Given the description of an element on the screen output the (x, y) to click on. 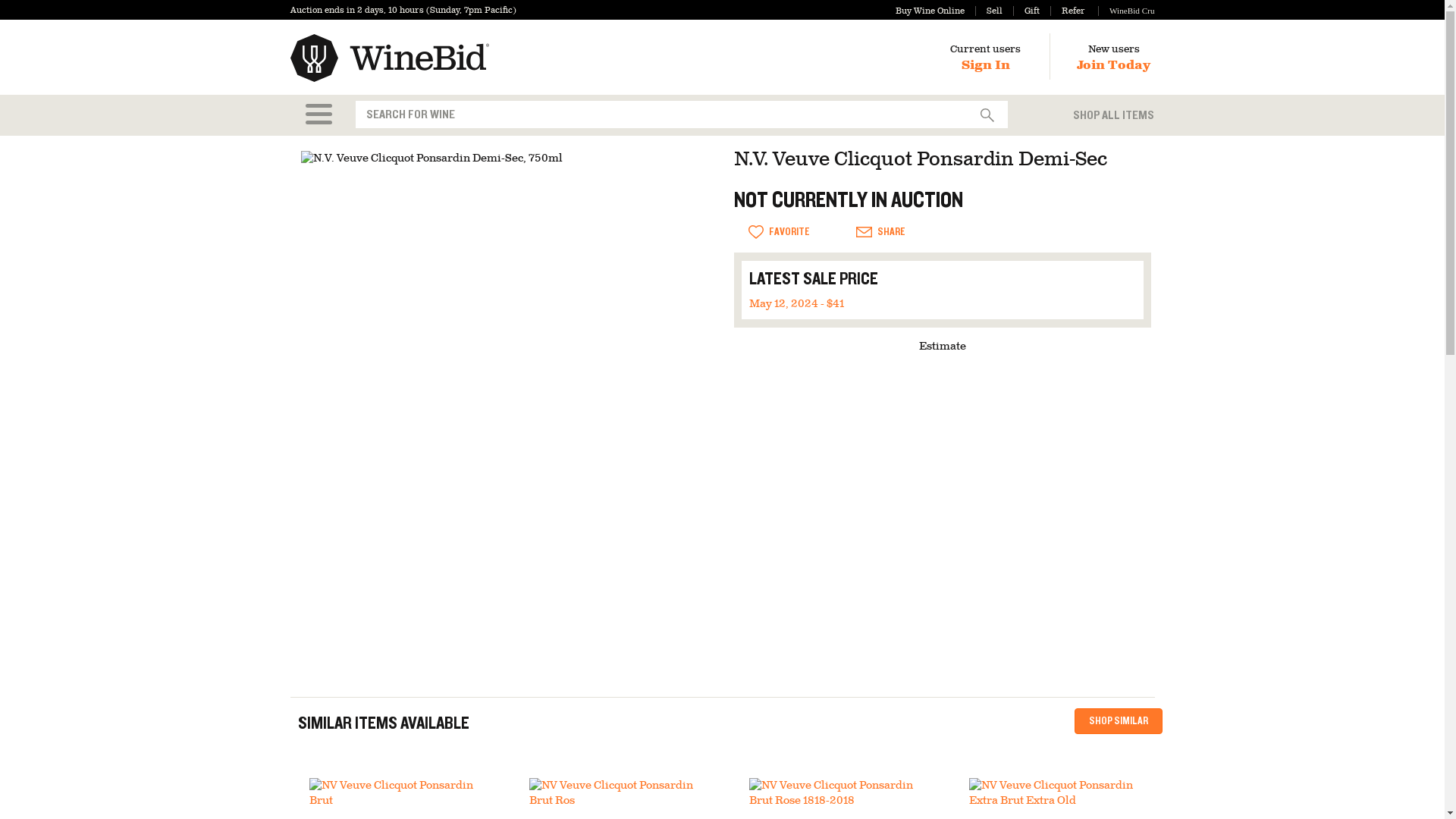
Sign In (985, 64)
Buy Wine Online (929, 10)
Refer (1066, 10)
WineBid Cru (1125, 10)
Gift (1026, 10)
Sell (989, 10)
Join Today (1113, 64)
